Given the description of an element on the screen output the (x, y) to click on. 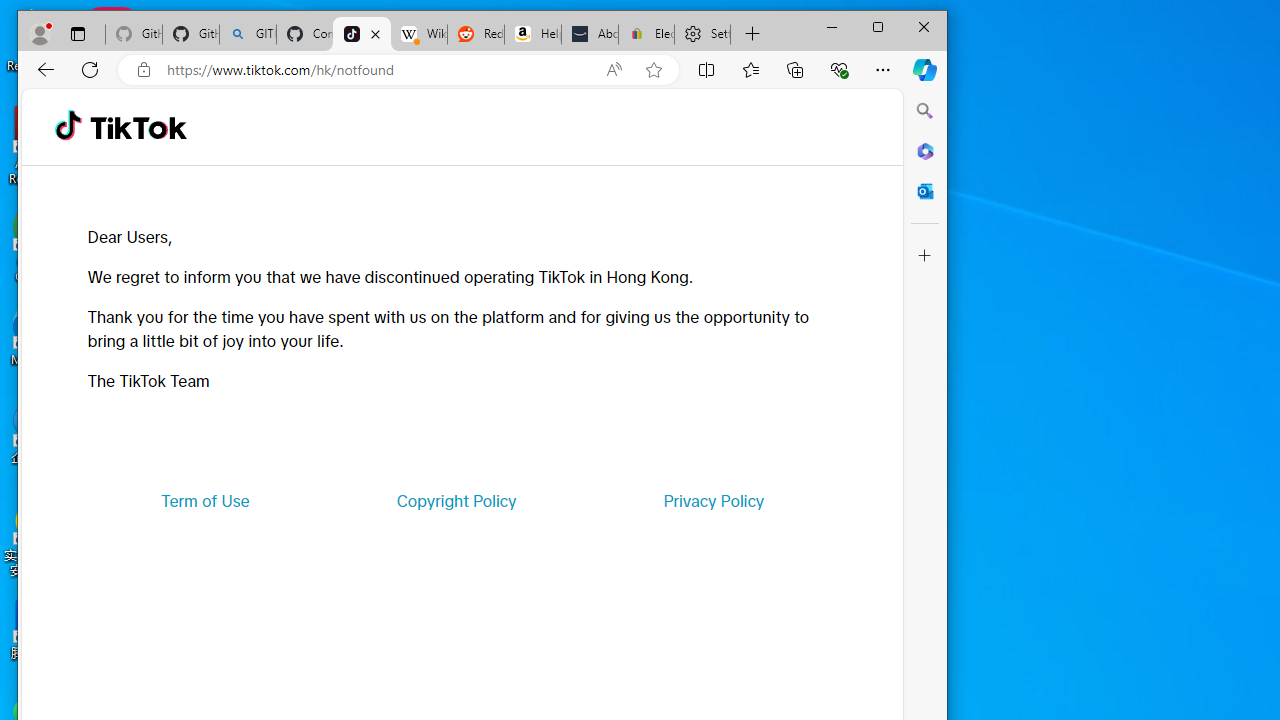
About Amazon (589, 34)
Maximize (878, 26)
